Given the description of an element on the screen output the (x, y) to click on. 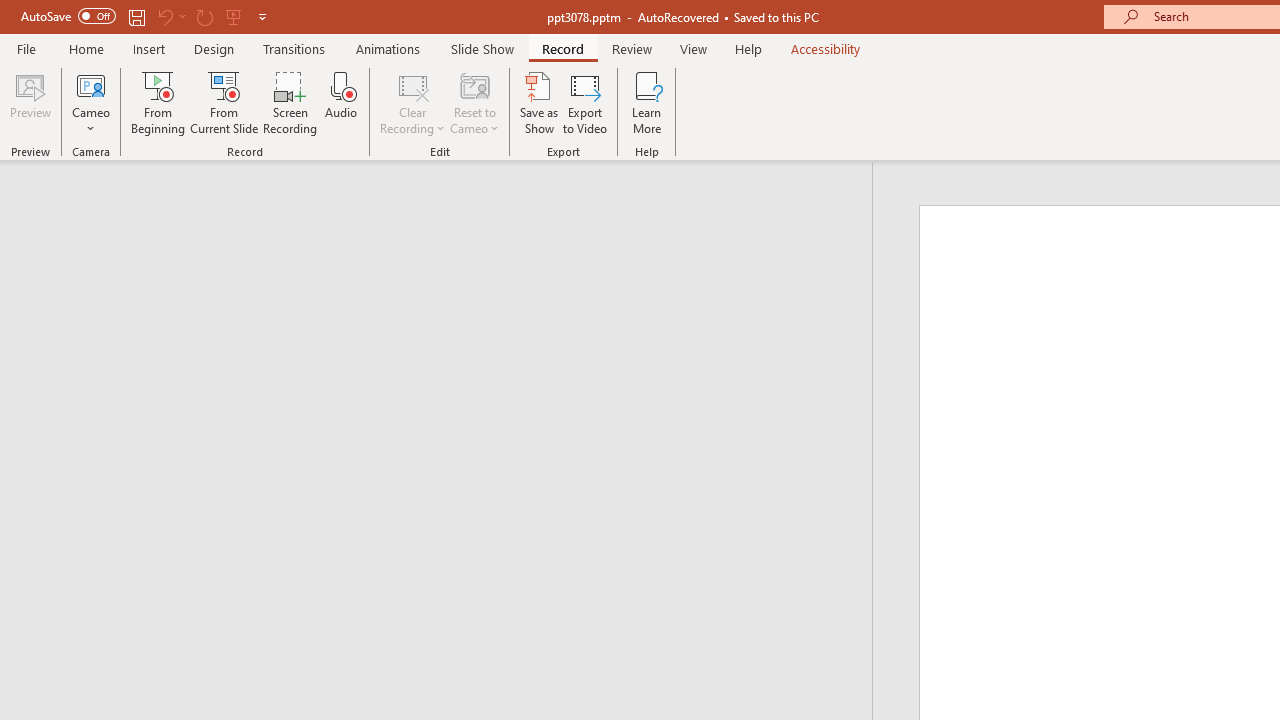
Learn More (646, 102)
From Beginning... (158, 102)
From Current Slide... (224, 102)
Clear Recording (412, 102)
Export to Video (585, 102)
